Given the description of an element on the screen output the (x, y) to click on. 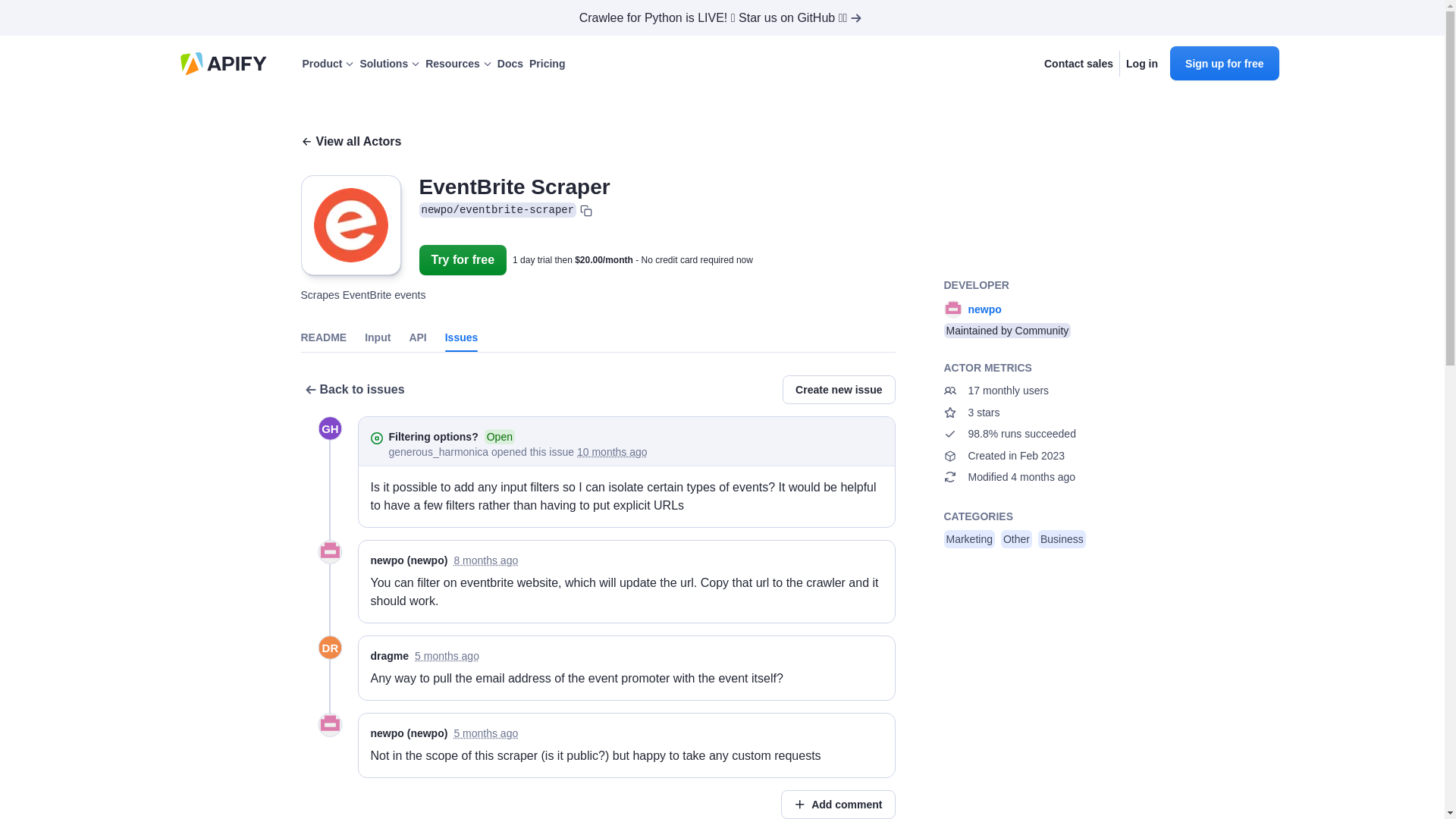
Contact sales (1078, 63)
GH (329, 428)
DR (329, 647)
Resources (458, 63)
Product (327, 63)
Sign up for free (1224, 62)
Solutions (389, 63)
Docs (509, 63)
Pricing (546, 63)
Log in (1141, 63)
